Given the description of an element on the screen output the (x, y) to click on. 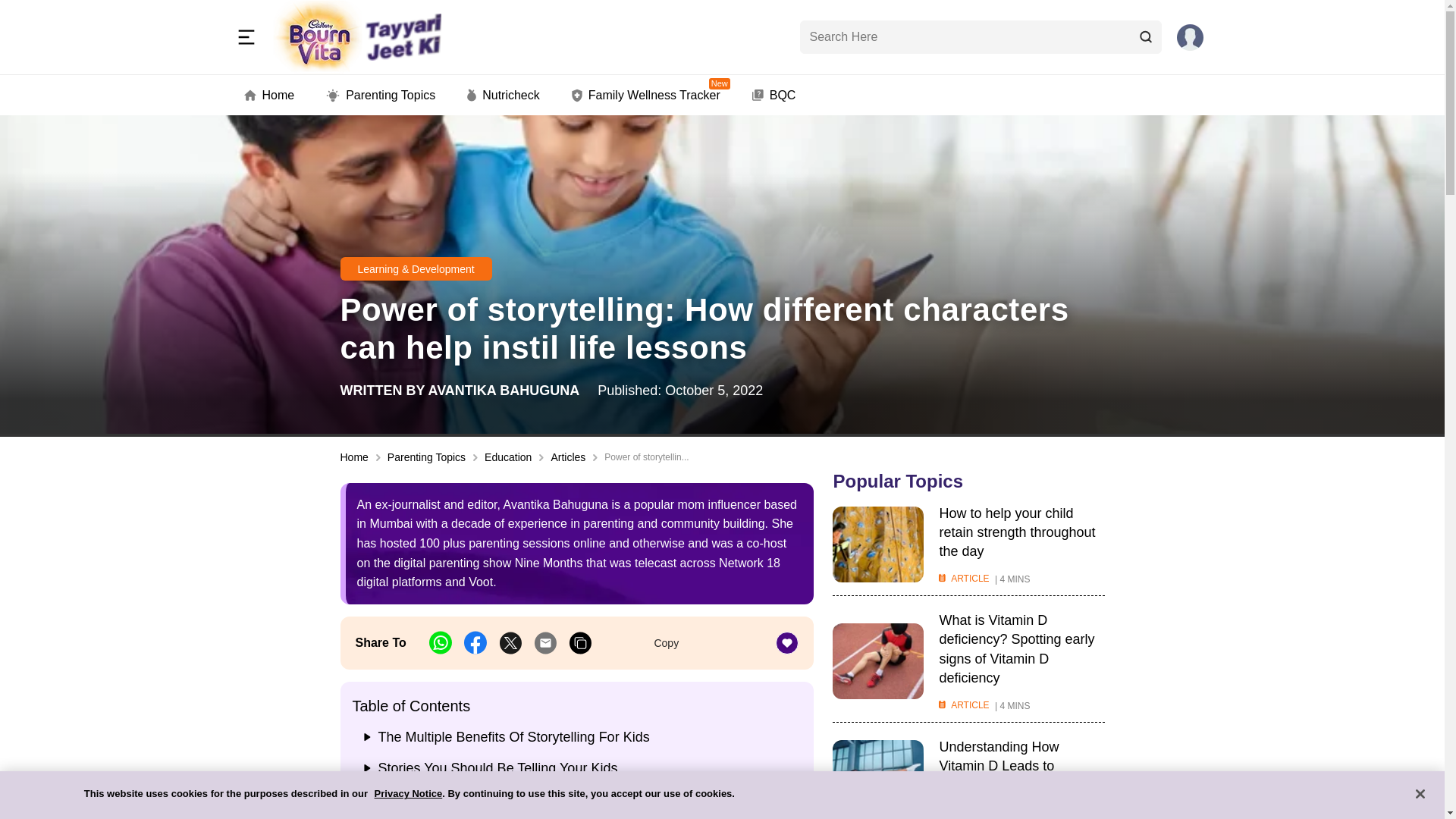
Nutricheck (503, 95)
Home (269, 95)
Parenting Topics (646, 95)
BQC (380, 95)
AVANTIKA BAHUGUNA (773, 95)
